Given the description of an element on the screen output the (x, y) to click on. 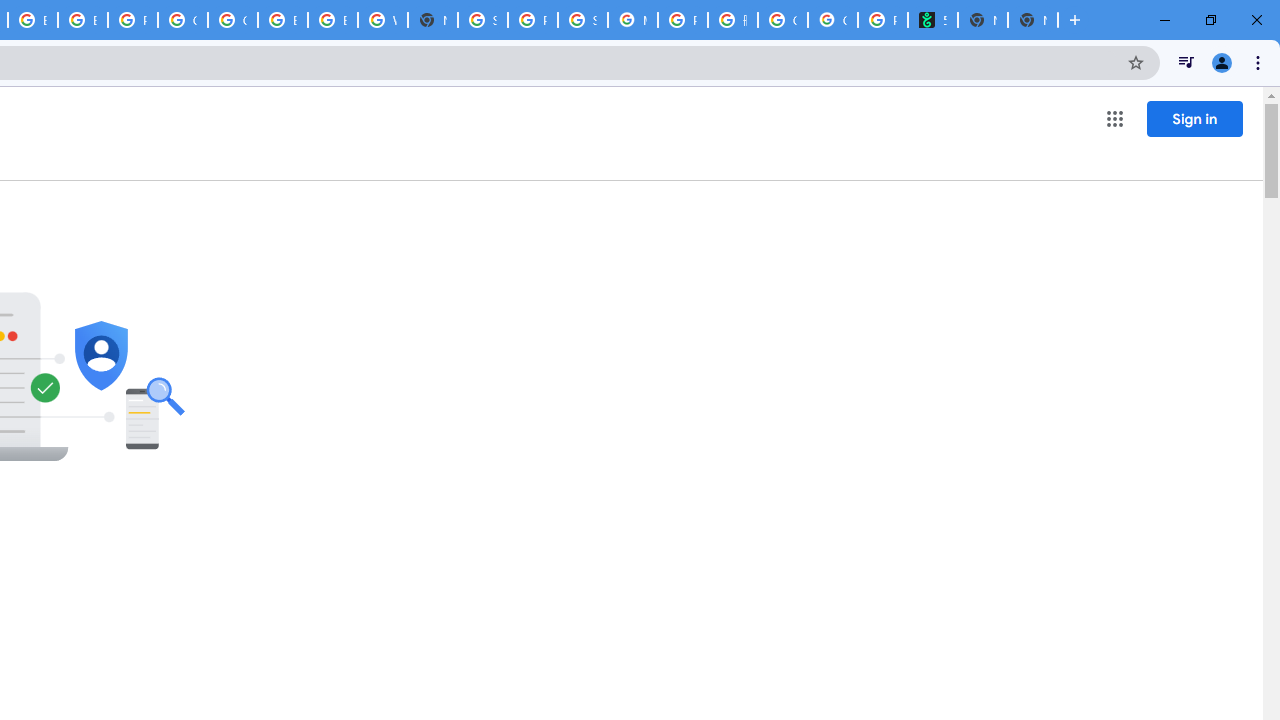
Sign in - Google Accounts (483, 20)
New Tab (433, 20)
Google Cloud Platform (232, 20)
Browse Chrome as a guest - Computer - Google Chrome Help (333, 20)
